Given the description of an element on the screen output the (x, y) to click on. 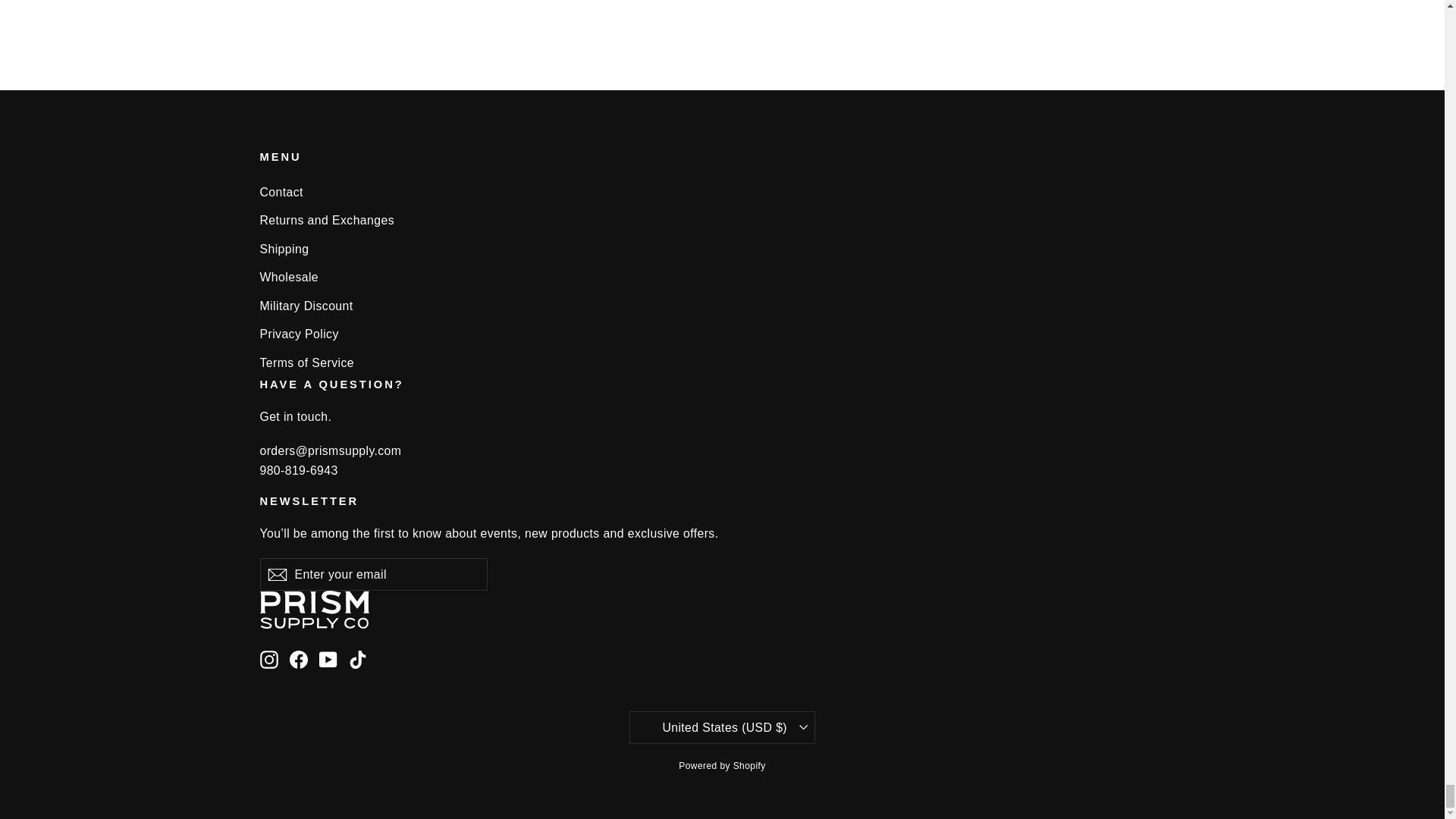
Prism Supply on YouTube (327, 659)
Prism Supply on TikTok (357, 659)
Prism Supply on Facebook (298, 659)
